Given the description of an element on the screen output the (x, y) to click on. 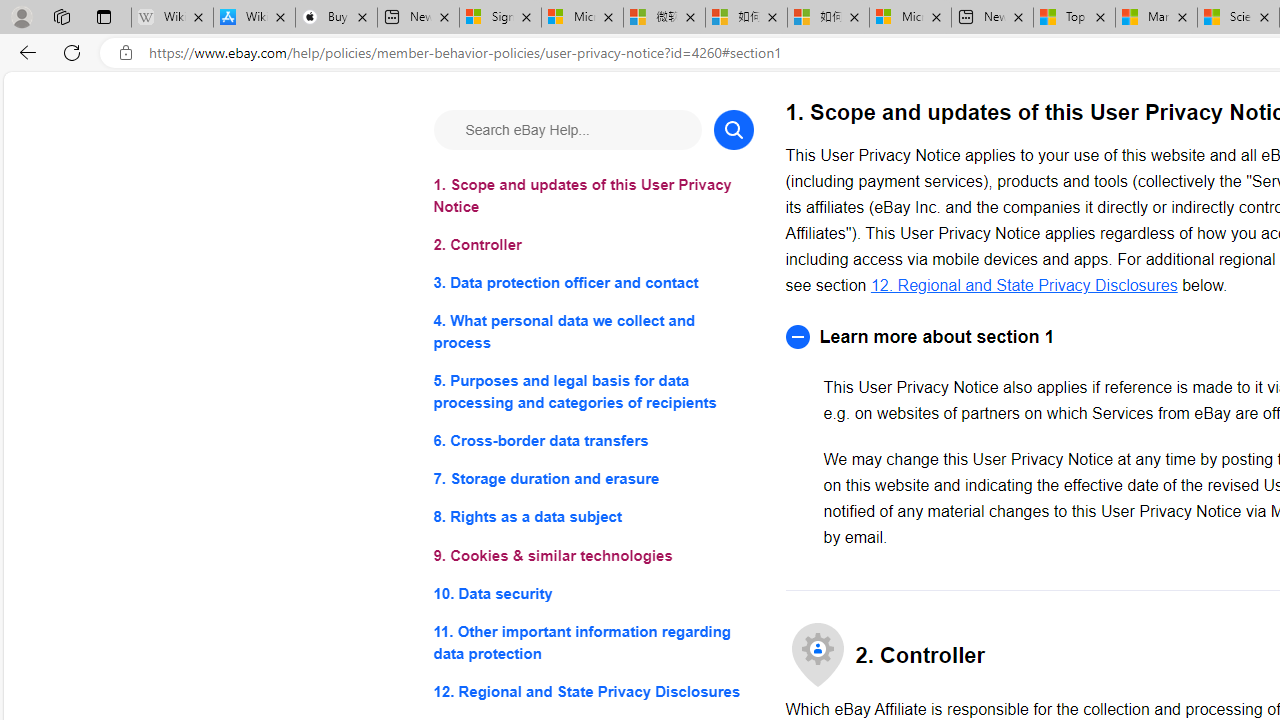
4. What personal data we collect and process (592, 332)
11. Other important information regarding data protection (592, 642)
12. Regional and State Privacy Disclosures (1023, 284)
Search eBay Help... (566, 129)
1. Scope and updates of this User Privacy Notice (592, 196)
8. Rights as a data subject (592, 517)
9. Cookies & similar technologies (592, 555)
3. Data protection officer and contact (592, 283)
2. Controller (592, 245)
